Given the description of an element on the screen output the (x, y) to click on. 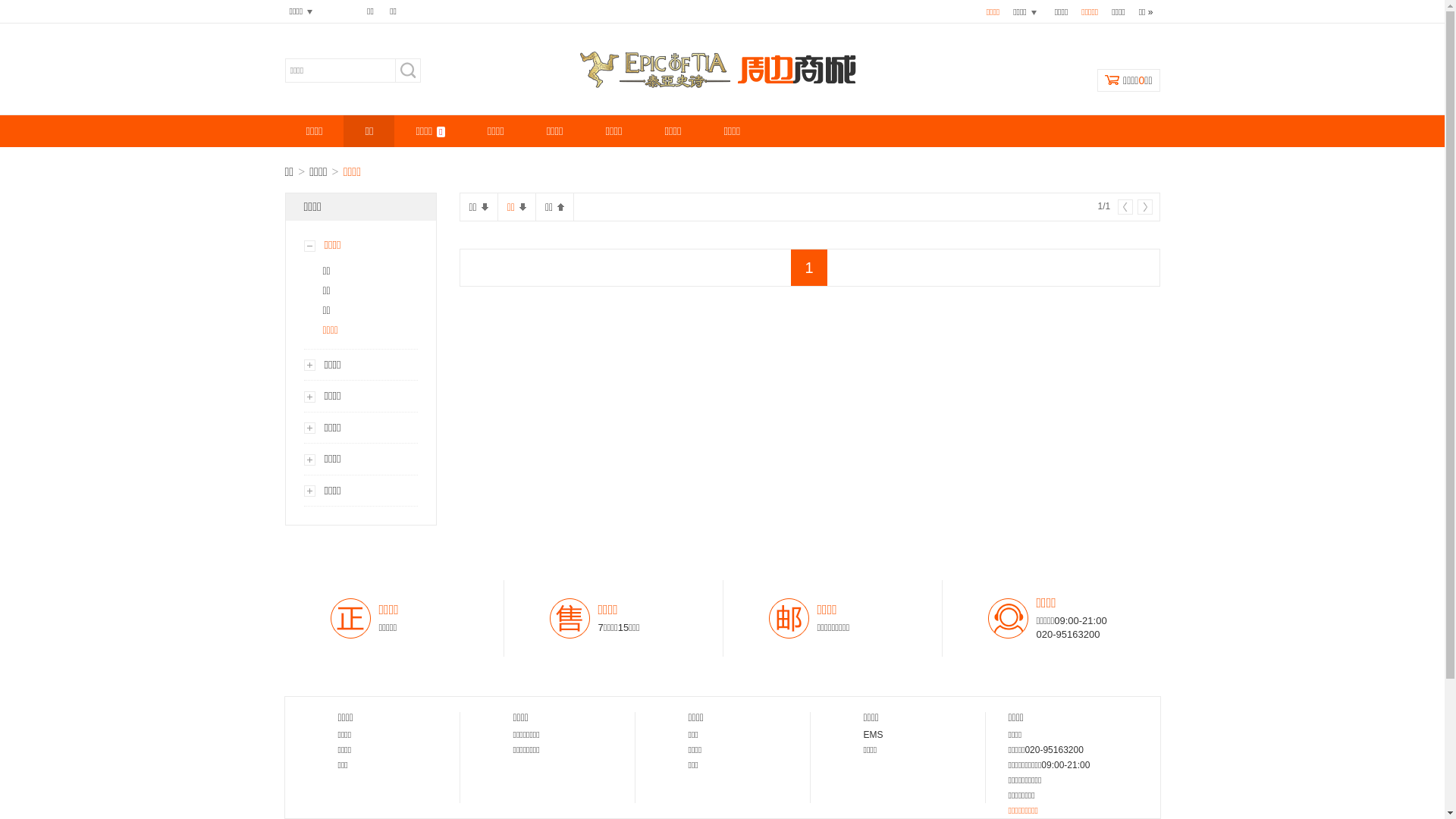
1 Element type: text (808, 267)
EMS Element type: text (872, 734)
